Given the description of an element on the screen output the (x, y) to click on. 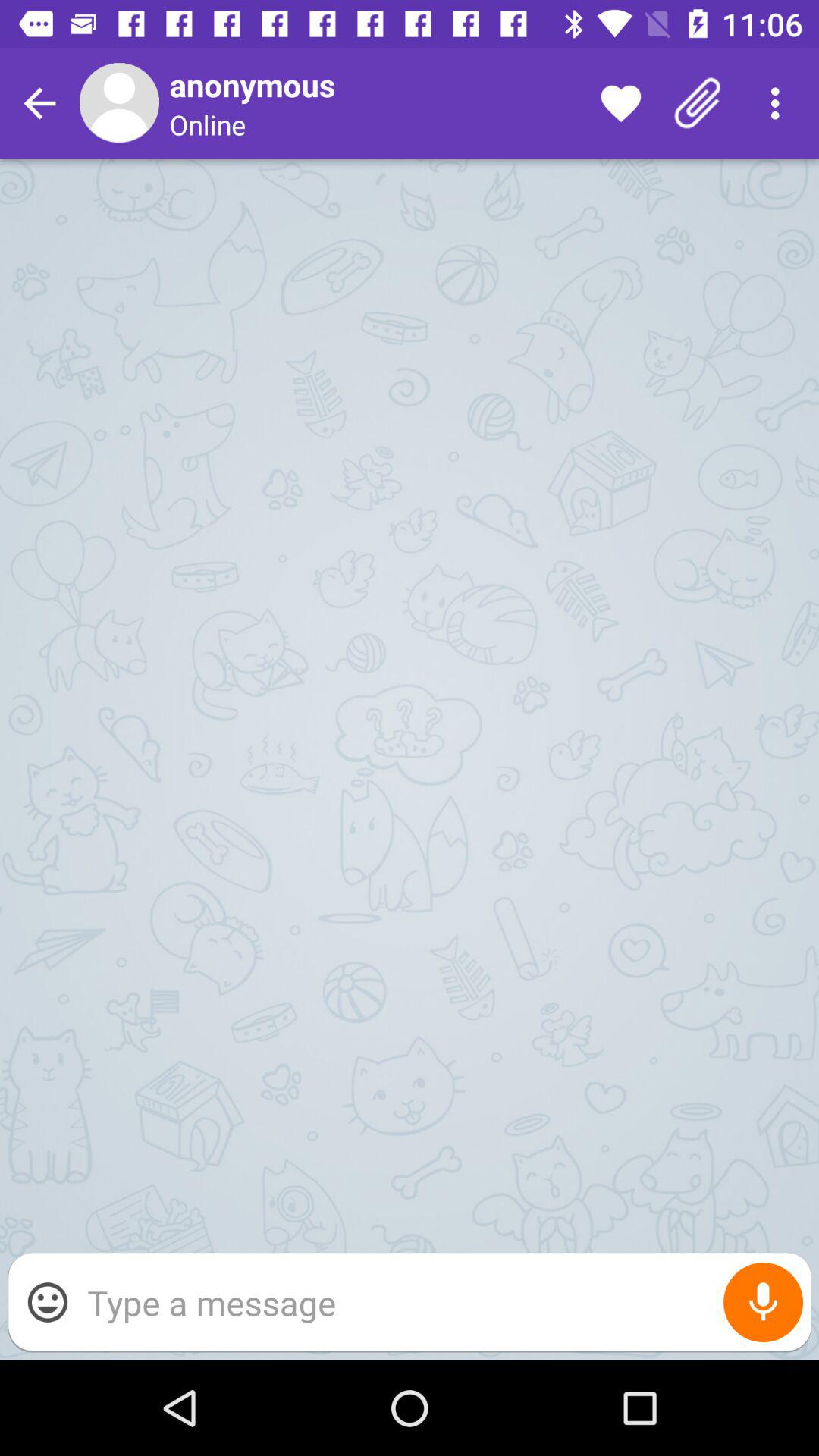
type a message (441, 1302)
